Given the description of an element on the screen output the (x, y) to click on. 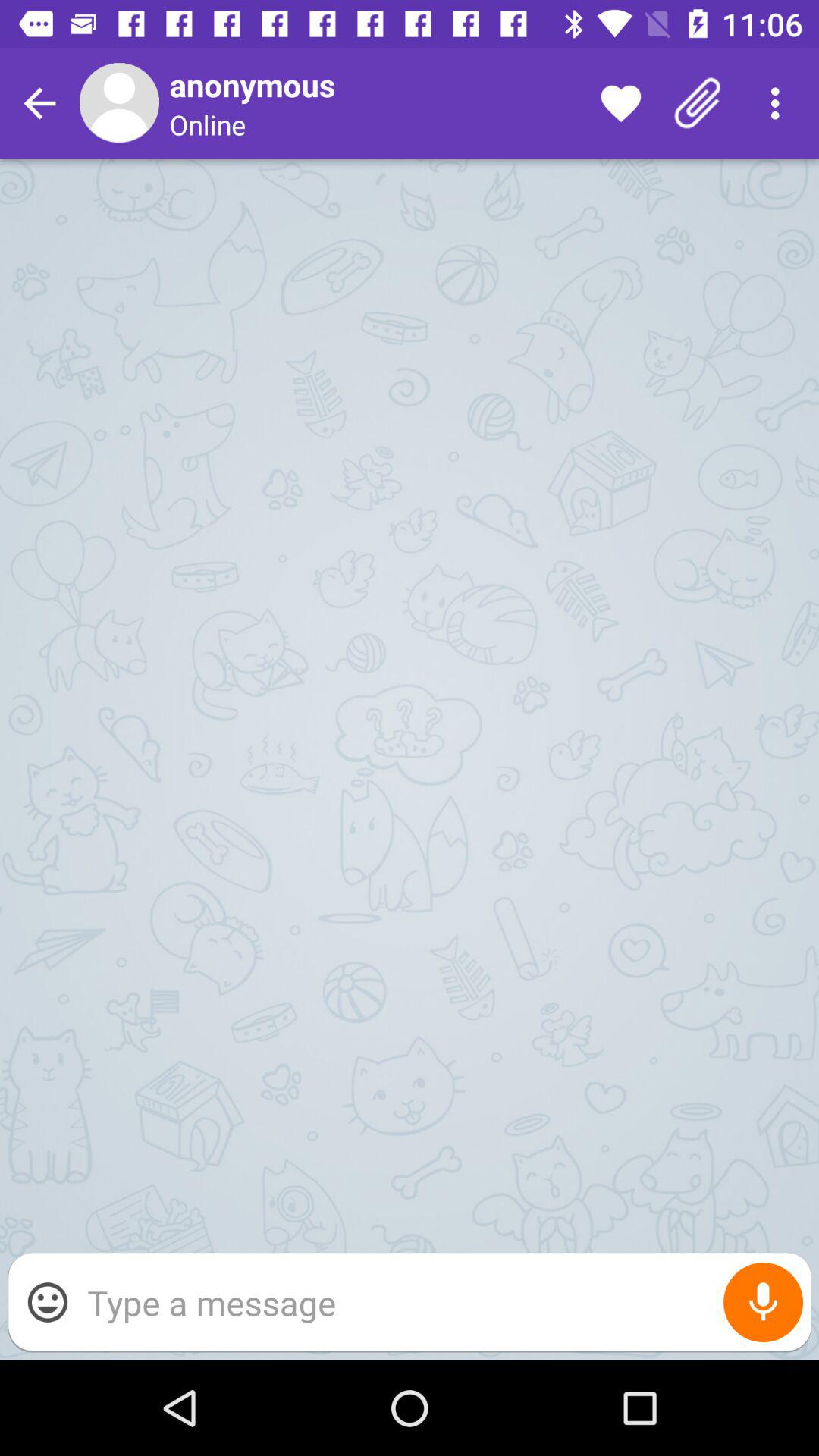
type a message (441, 1302)
